Given the description of an element on the screen output the (x, y) to click on. 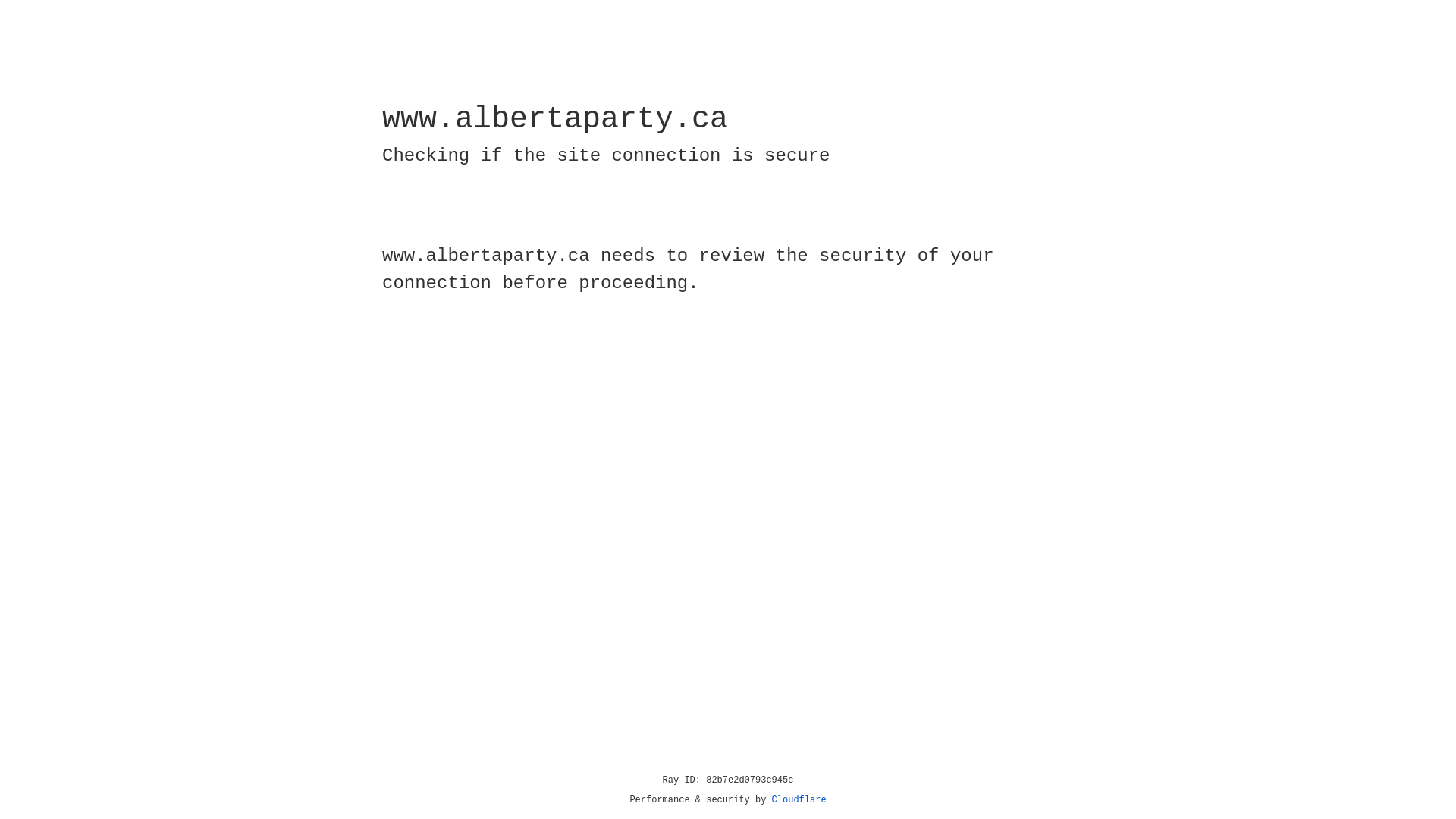
Cloudflare Element type: text (798, 799)
